Given the description of an element on the screen output the (x, y) to click on. 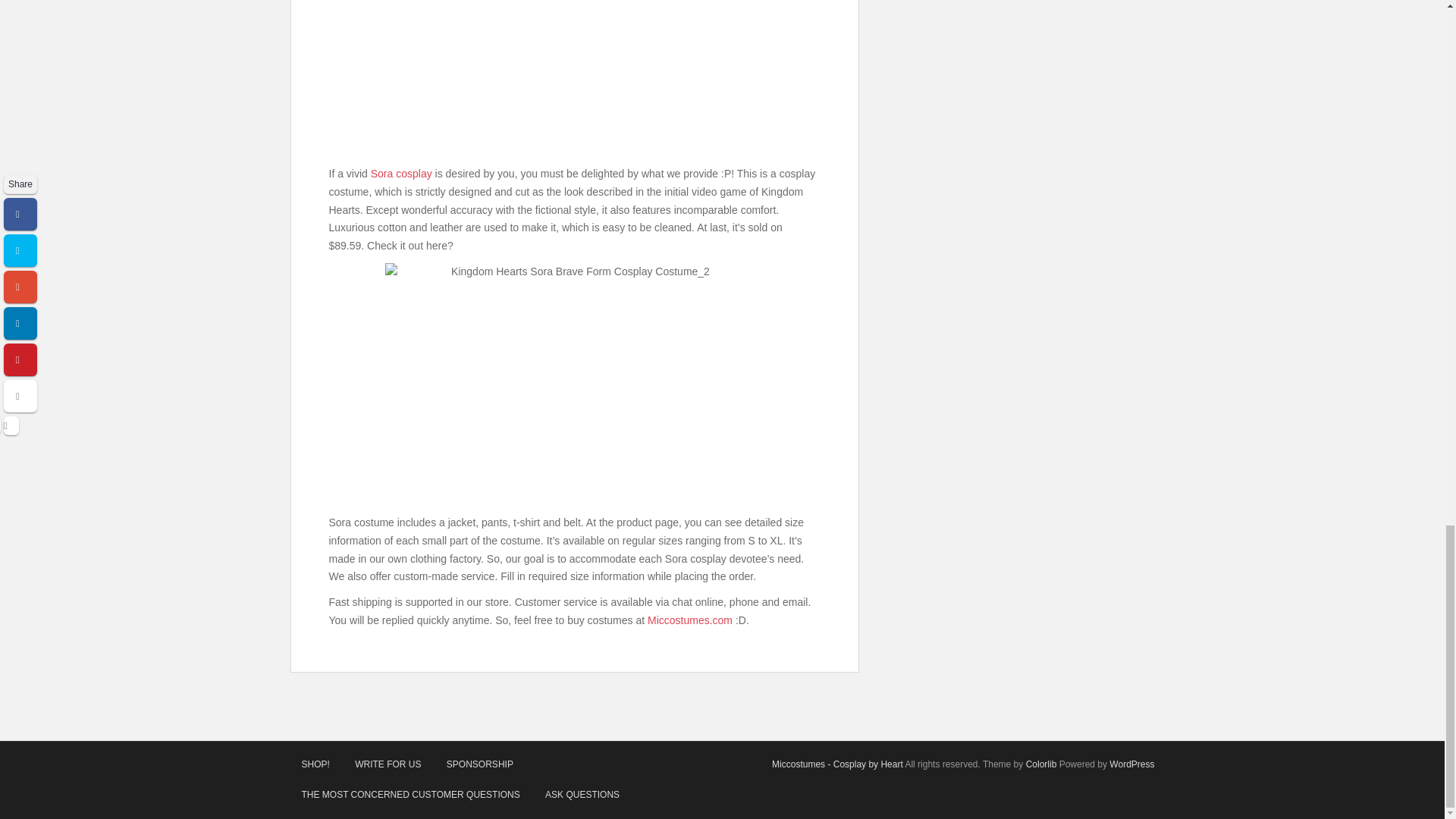
Sora cosplay (401, 173)
Miccostumes - Cosplay by Heart (836, 764)
WRITE FOR US (387, 764)
THE MOST CONCERNED CUSTOMER QUESTIONS (410, 794)
ASK QUESTIONS (582, 794)
Miccostumes.com (689, 620)
SHOP! (314, 764)
SPONSORSHIP (479, 764)
